Given the description of an element on the screen output the (x, y) to click on. 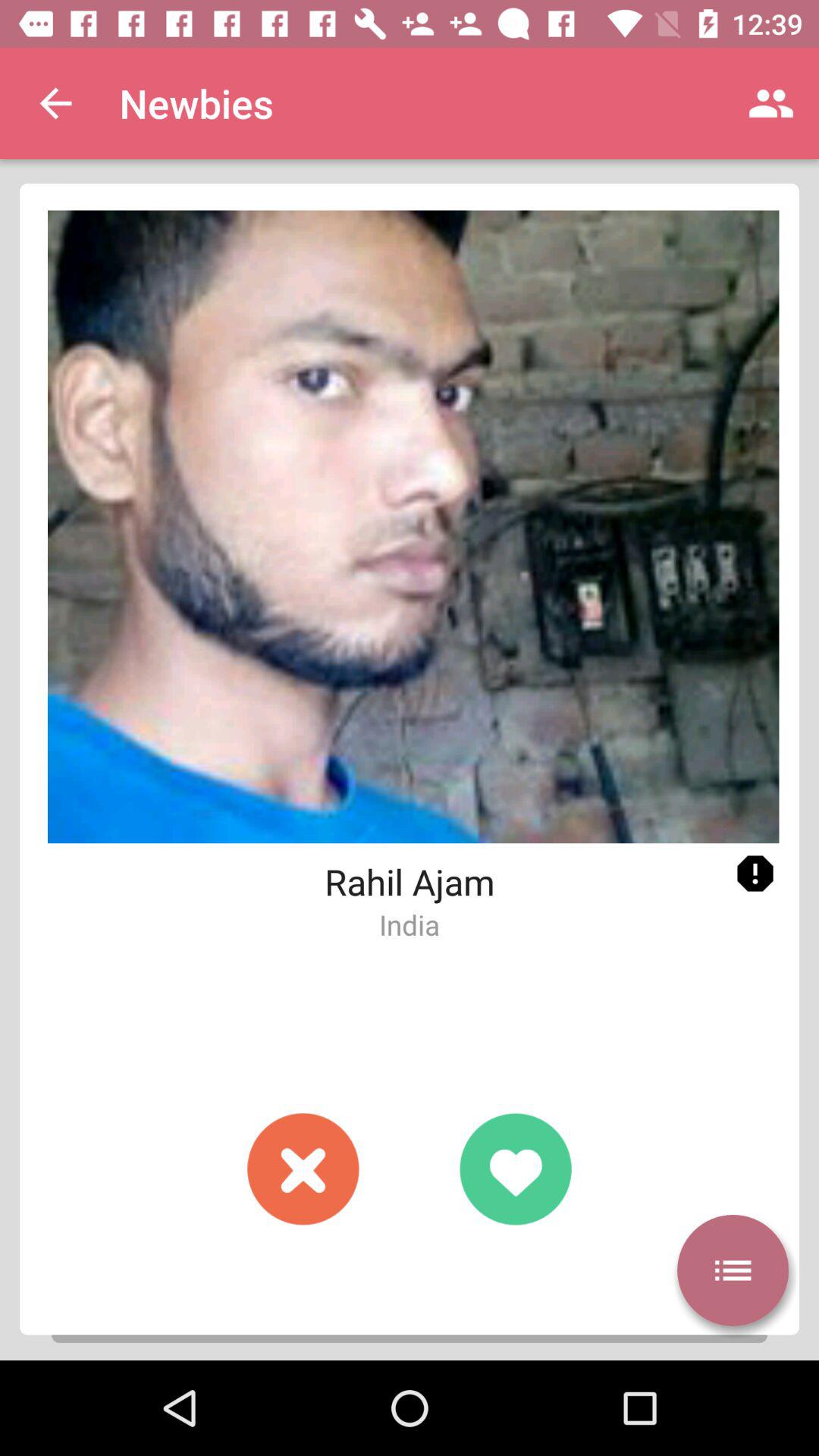
go to menu (733, 1270)
